Given the description of an element on the screen output the (x, y) to click on. 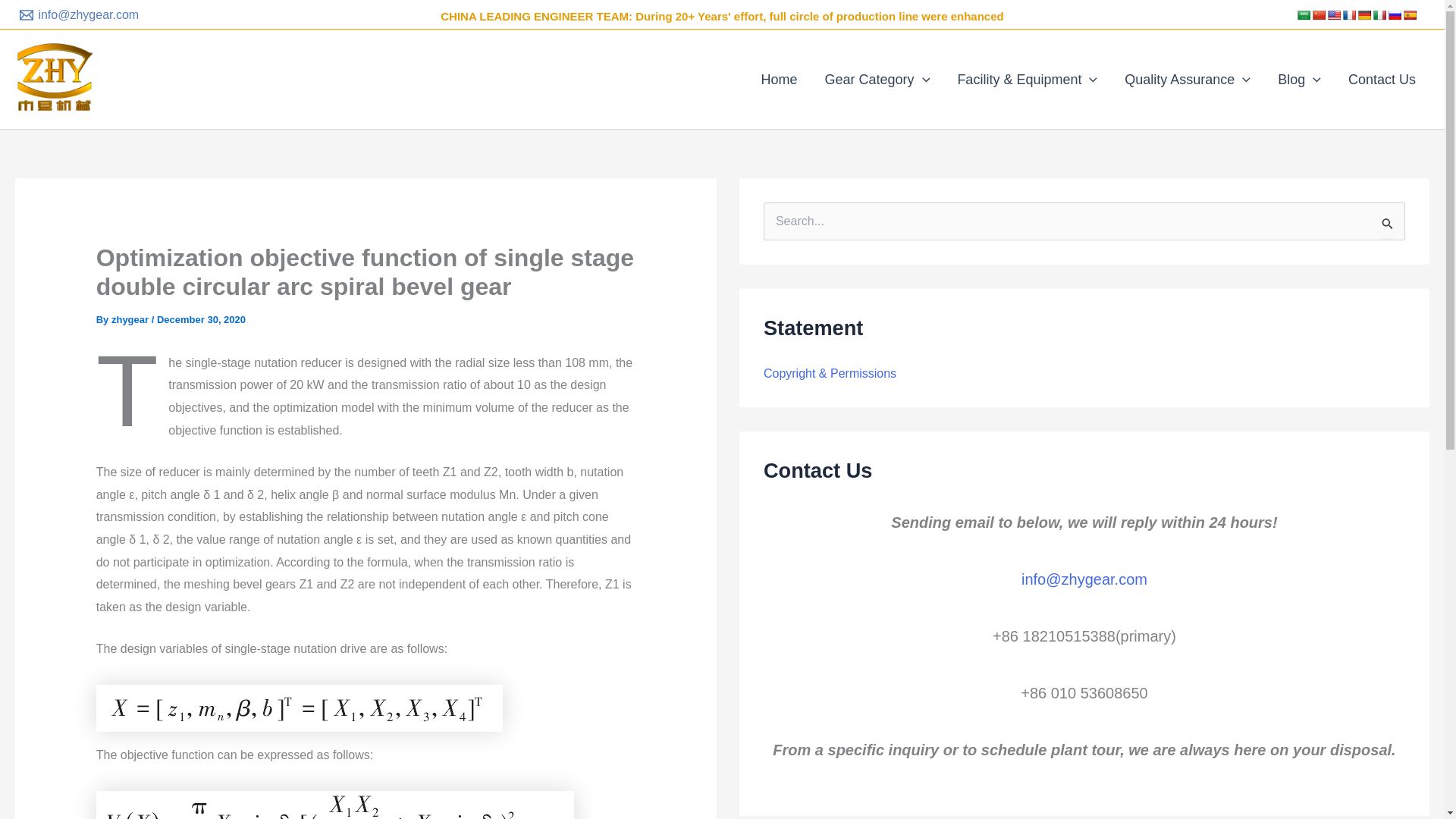
Home (779, 79)
Quality Assurance (1186, 79)
Spanish (1409, 15)
View all posts by zhygear (131, 319)
Italian (1379, 15)
French (1348, 15)
Gear Category (876, 79)
English (1333, 15)
Blog (1299, 79)
Arabic (1303, 15)
Russian (1393, 15)
Contact Us (1382, 79)
German (1363, 15)
